Given the description of an element on the screen output the (x, y) to click on. 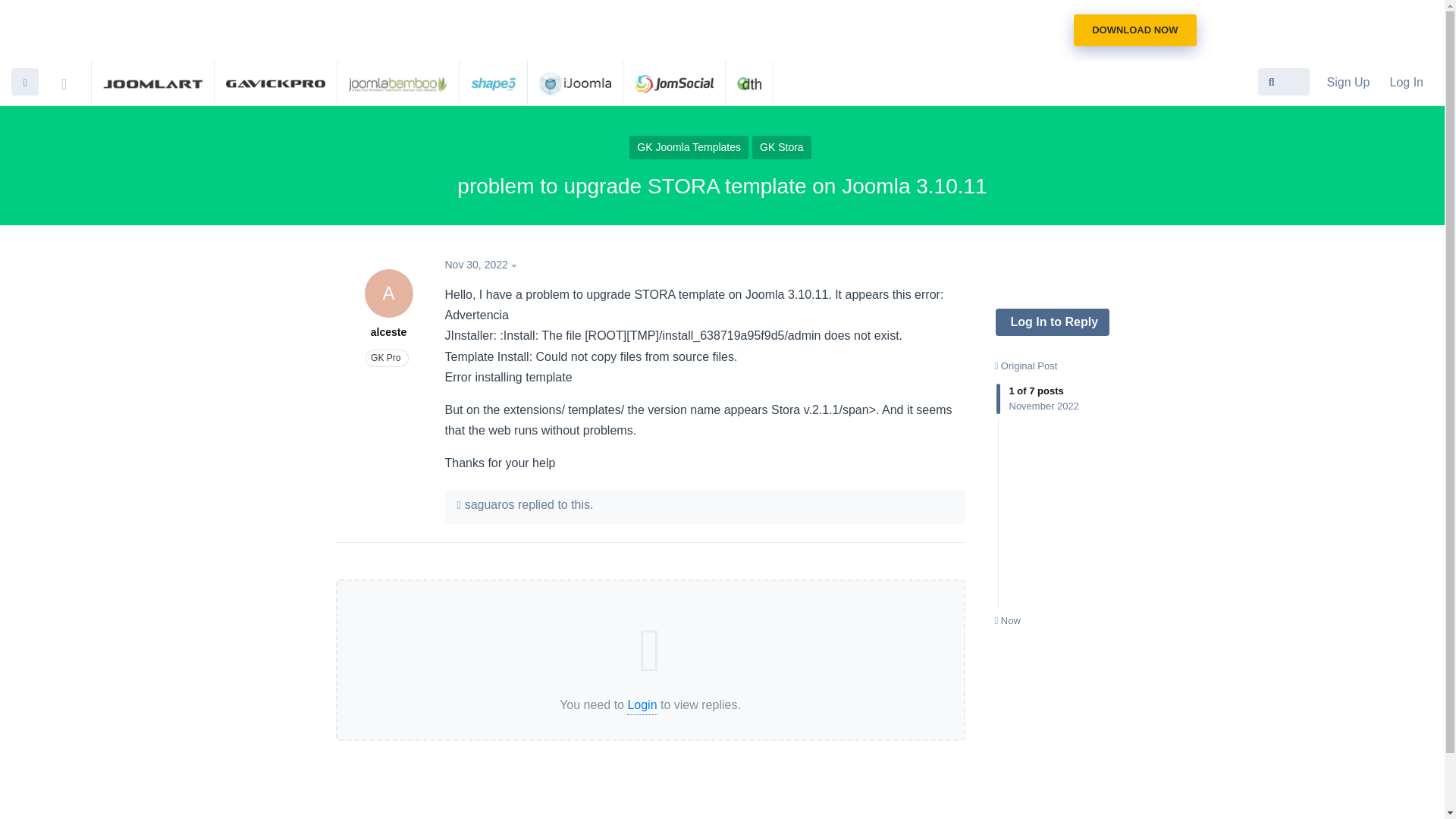
DTH (749, 82)
Nov 30, 2022 (483, 264)
GK Stora (781, 146)
GK Joomla Templates (688, 146)
GAVICK (275, 82)
JoomlArt Homepage (152, 82)
DTH Development Homepage (749, 82)
Wednesday, November 30, 2022 5:07 PM (475, 264)
iJoomla Homepage (575, 82)
Original Post (1026, 365)
Log In to Reply (387, 304)
DOWNLOAD NOW (1051, 321)
Now (1134, 29)
SHAPE5 (1007, 619)
